Given the description of an element on the screen output the (x, y) to click on. 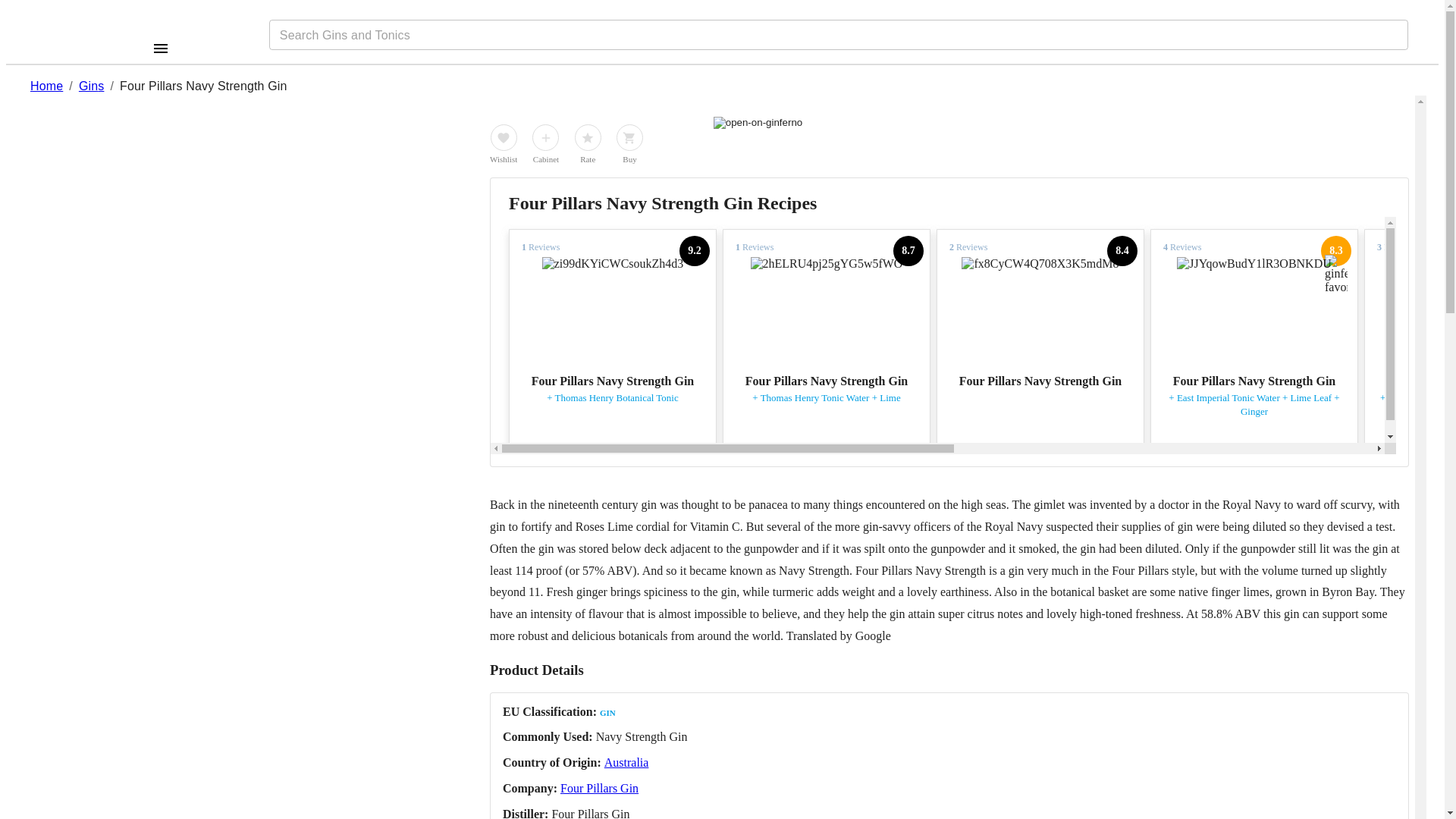
Home (46, 85)
Four Pillars Gin (599, 788)
Australia (626, 762)
Gins (91, 85)
